Given the description of an element on the screen output the (x, y) to click on. 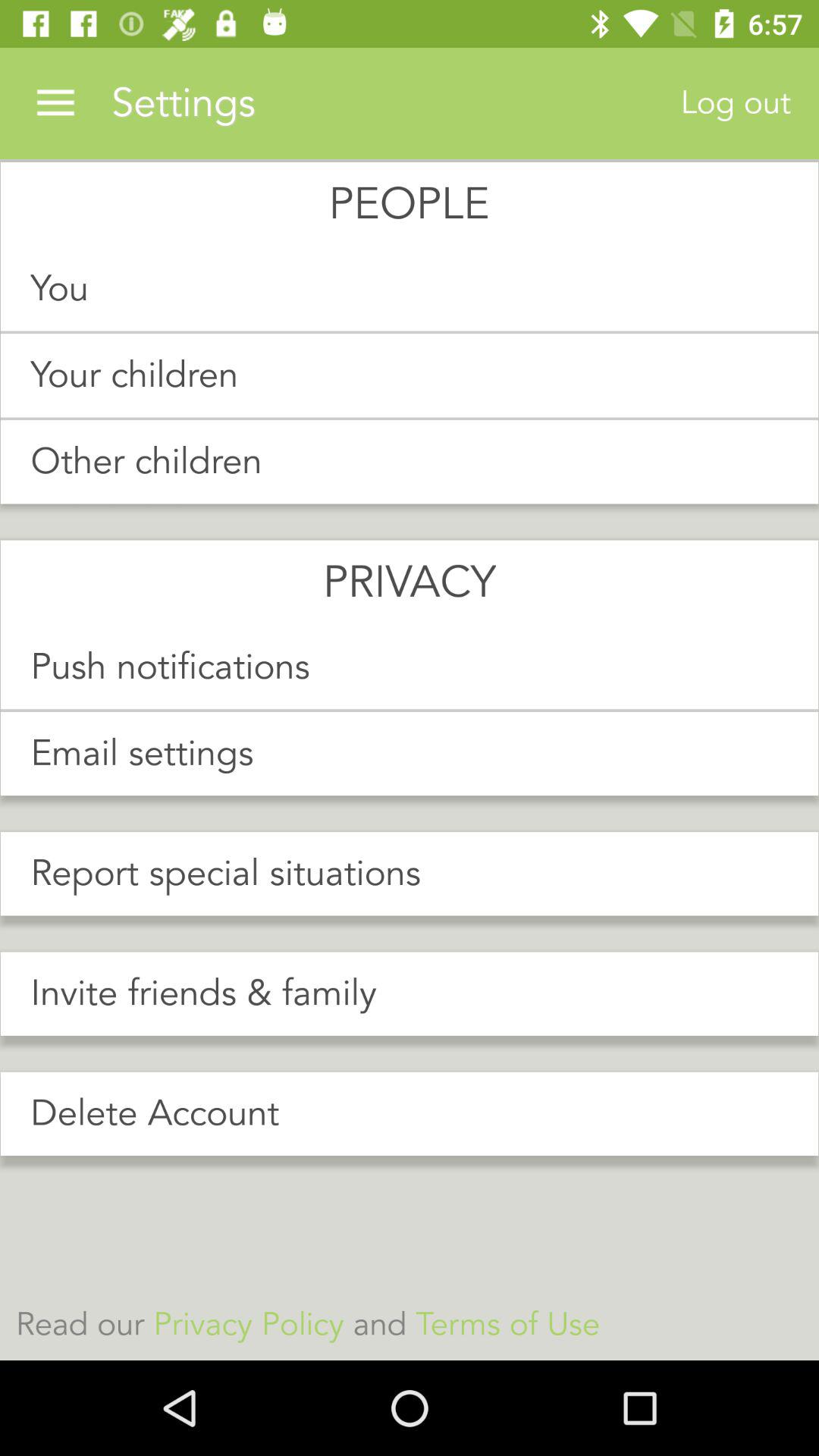
choose icon at the top left corner (55, 103)
